Given the description of an element on the screen output the (x, y) to click on. 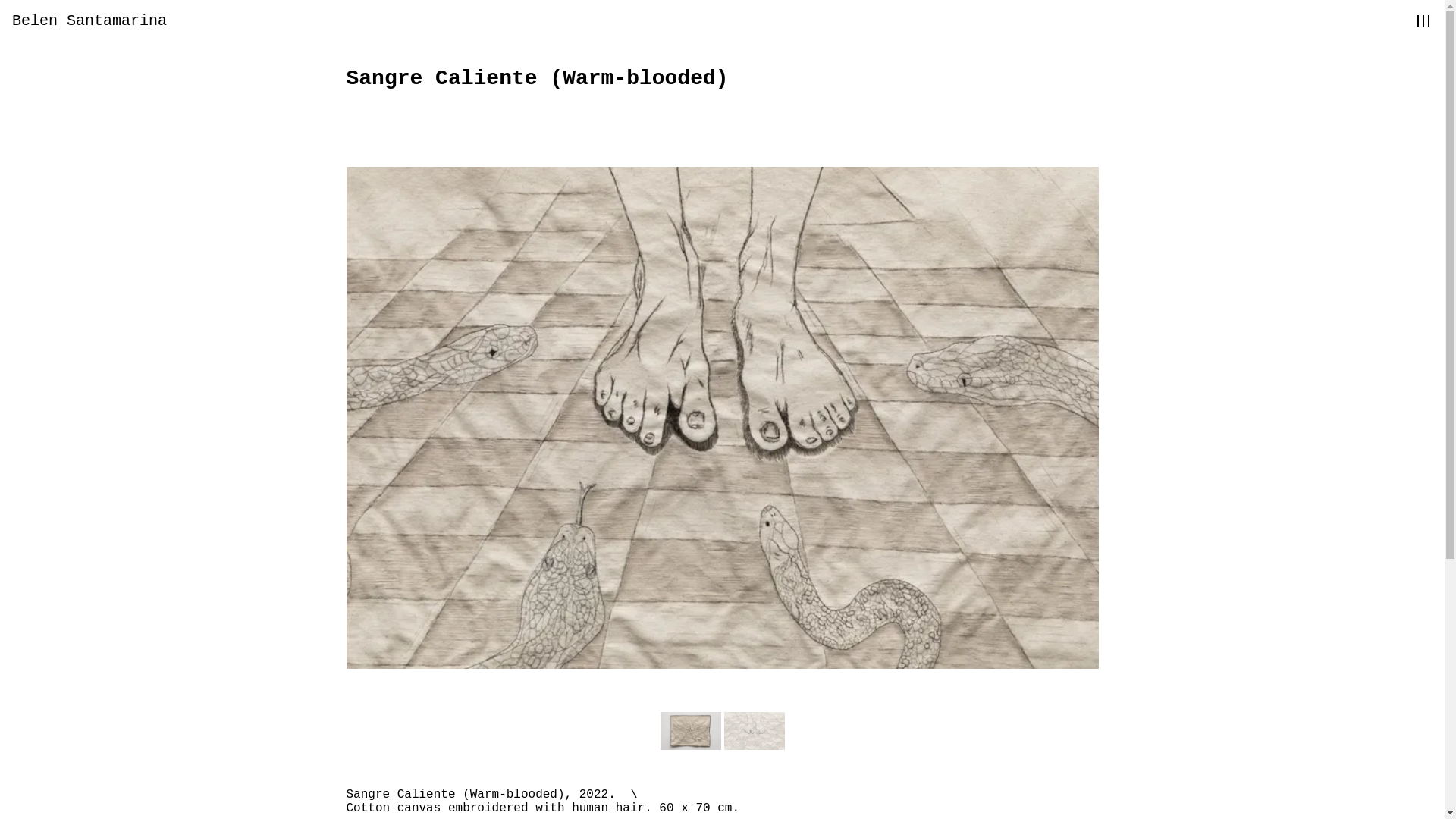
Select photo number 1 (689, 730)
Select photo number 2 (753, 730)
Belen Santamarina (89, 20)
